Given the description of an element on the screen output the (x, y) to click on. 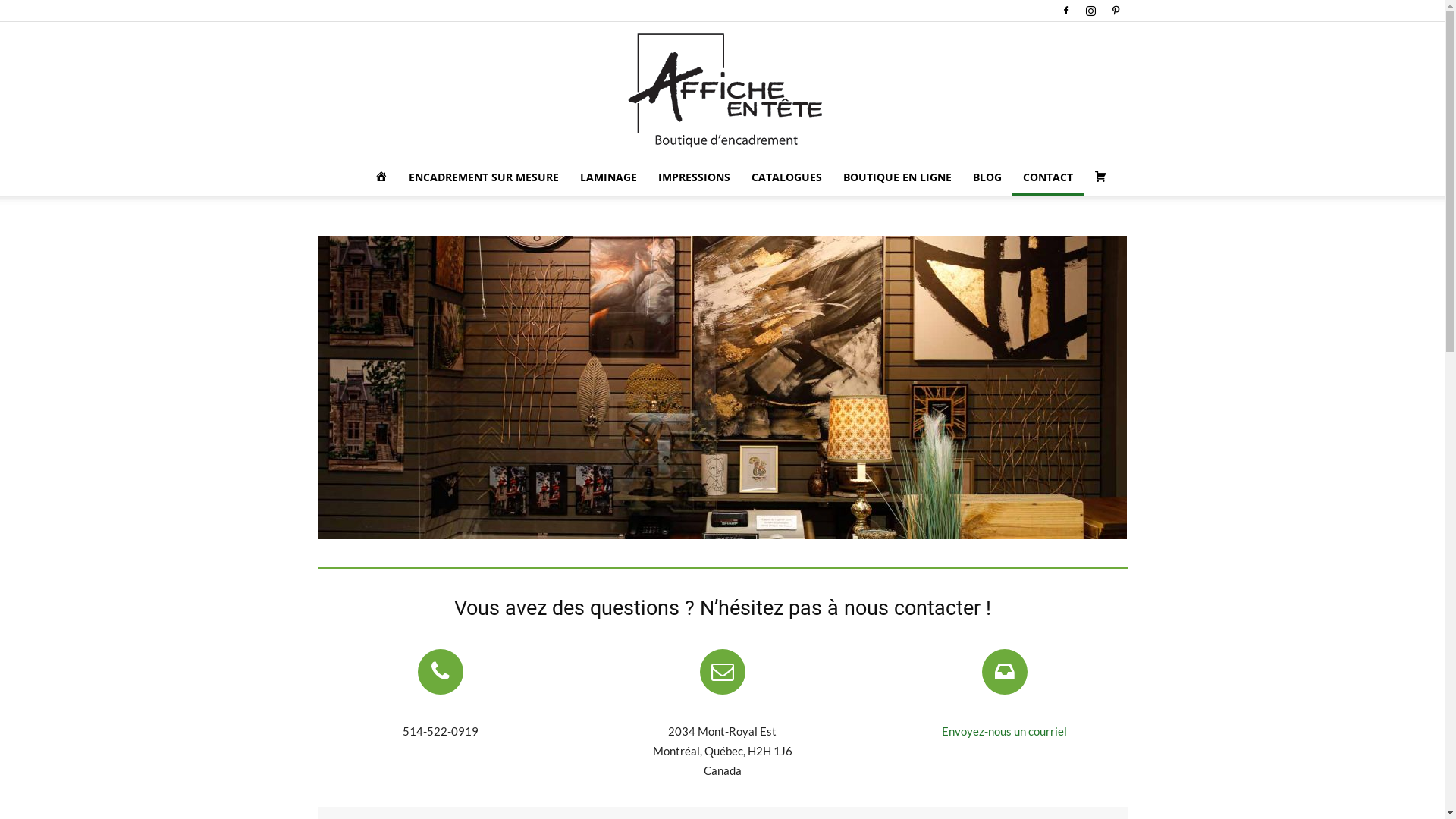
PANIER Element type: text (1099, 177)
Instagram Element type: hover (1090, 10)
ENCADREMENT SUR MESURE Element type: text (482, 177)
IMPRESSIONS Element type: text (693, 177)
Contact Element type: hover (721, 387)
LAMINAGE Element type: text (607, 177)
CONTACT Element type: text (1046, 177)
Envoyez-nous un courriel Element type: text (1003, 730)
Facebook Element type: hover (1065, 10)
BLOG Element type: text (986, 177)
Pinterest Element type: hover (1115, 10)
ACCUEIL Element type: text (381, 177)
CATALOGUES Element type: text (785, 177)
BOUTIQUE EN LIGNE Element type: text (897, 177)
